Given the description of an element on the screen output the (x, y) to click on. 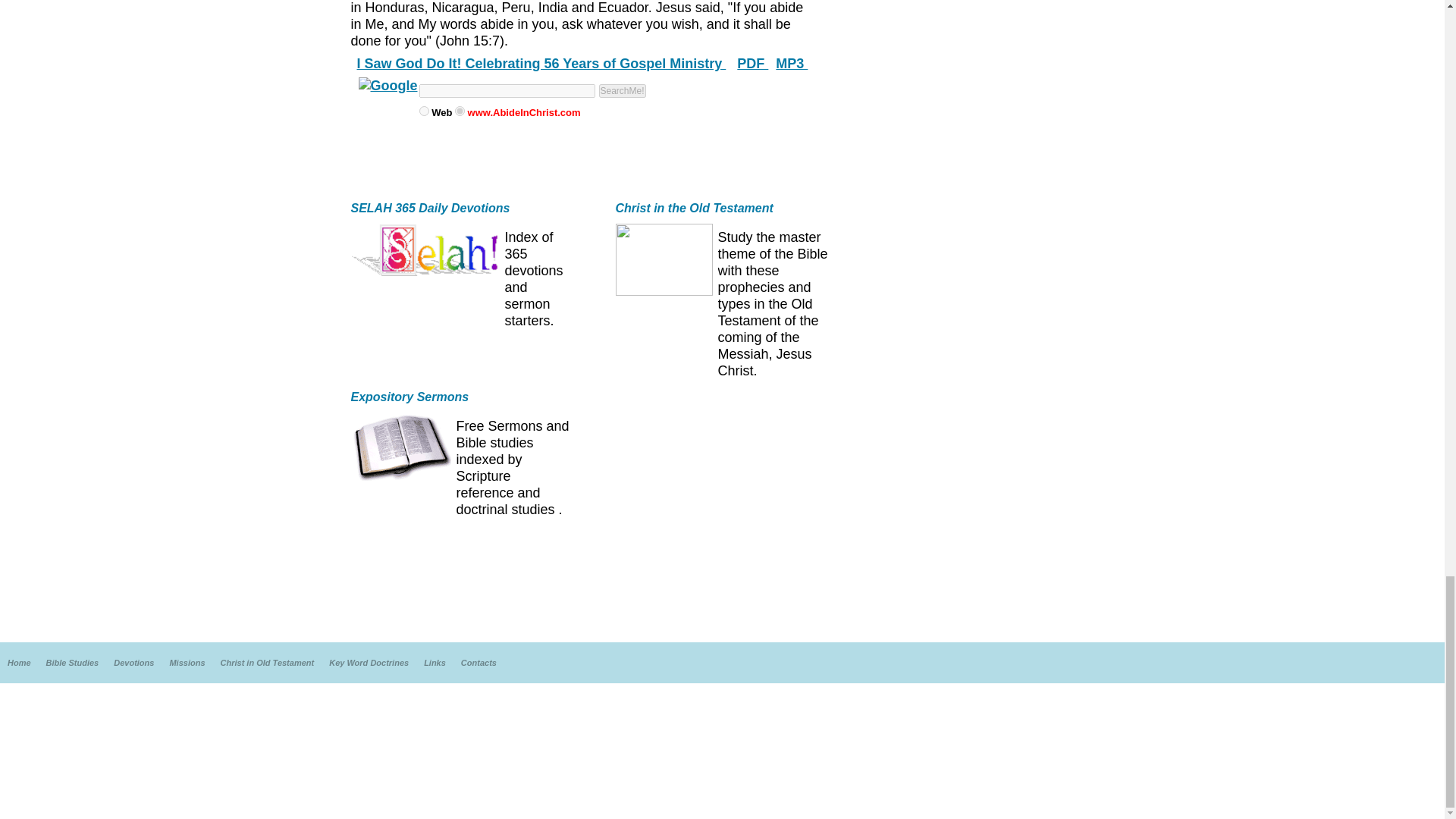
Bible Studies (72, 662)
SearchMe! (622, 90)
I Saw God Do It! Celebrating 56 Years of Gospel Ministry (540, 63)
Expository Sermons (409, 396)
Devotions (133, 662)
PDF  (752, 63)
Christ in the Old Testament (694, 207)
SELAH 365 Daily Devotions (429, 207)
SearchMe! (622, 90)
MP3  (792, 63)
www.AbideInChrist.com (459, 111)
Home (18, 662)
